Given the description of an element on the screen output the (x, y) to click on. 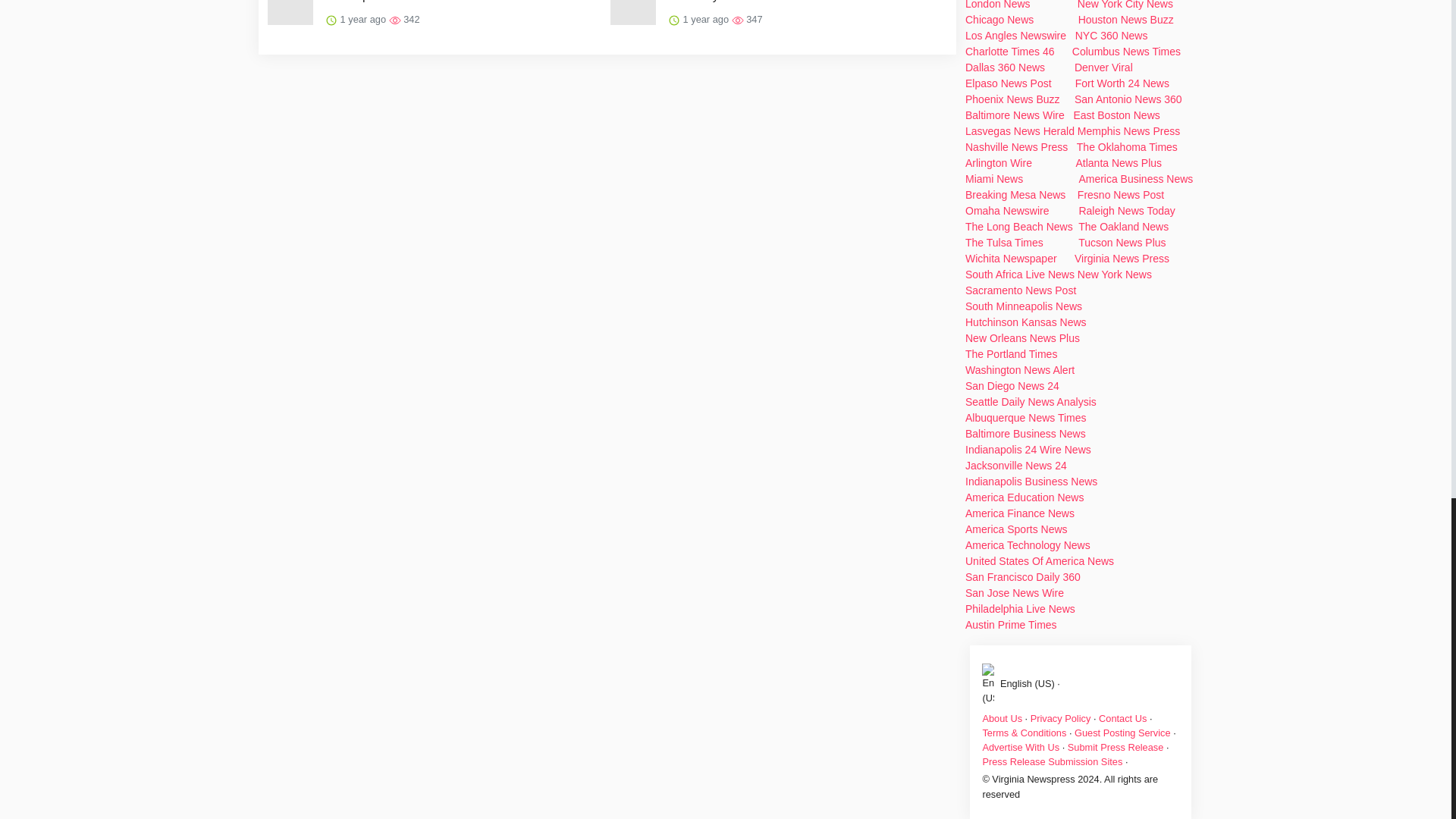
NFTs and the Transformation of Digital Art Marketplaces (461, 1)
NFTs and the Transformation of Digital Art Marketplaces (461, 1)
The Impact of Decentralized Finance on the Economy (804, 1)
The Impact of Decentralized Finance on the Economy (804, 1)
